Given the description of an element on the screen output the (x, y) to click on. 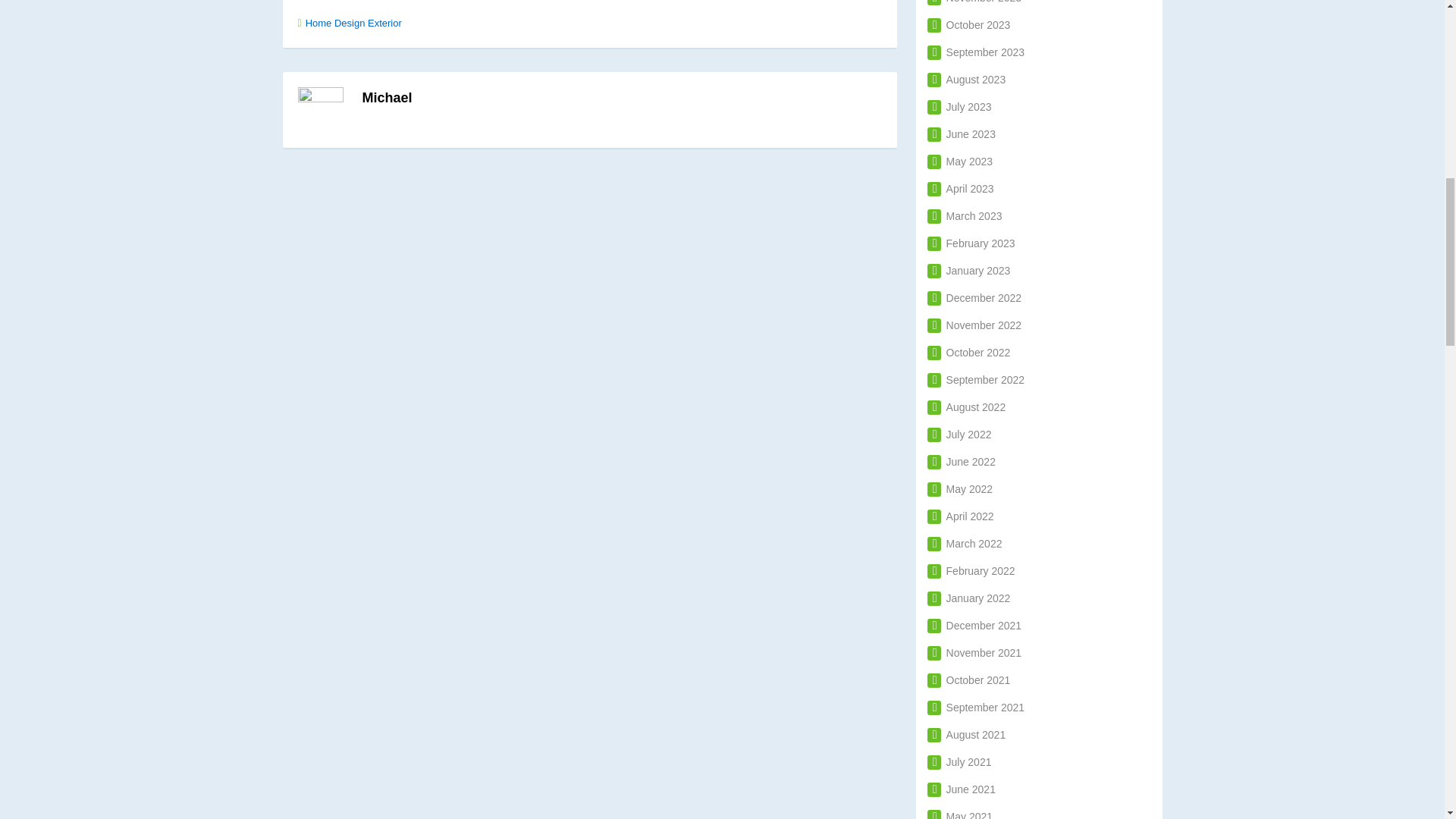
February 2023 (970, 243)
Michael (387, 97)
August 2023 (966, 79)
September 2023 (976, 51)
July 2023 (959, 106)
June 2023 (961, 133)
May 2023 (959, 161)
April 2023 (960, 188)
October 2023 (968, 24)
March 2023 (965, 215)
Home Design Exterior (353, 22)
November 2023 (974, 2)
